Given the description of an element on the screen output the (x, y) to click on. 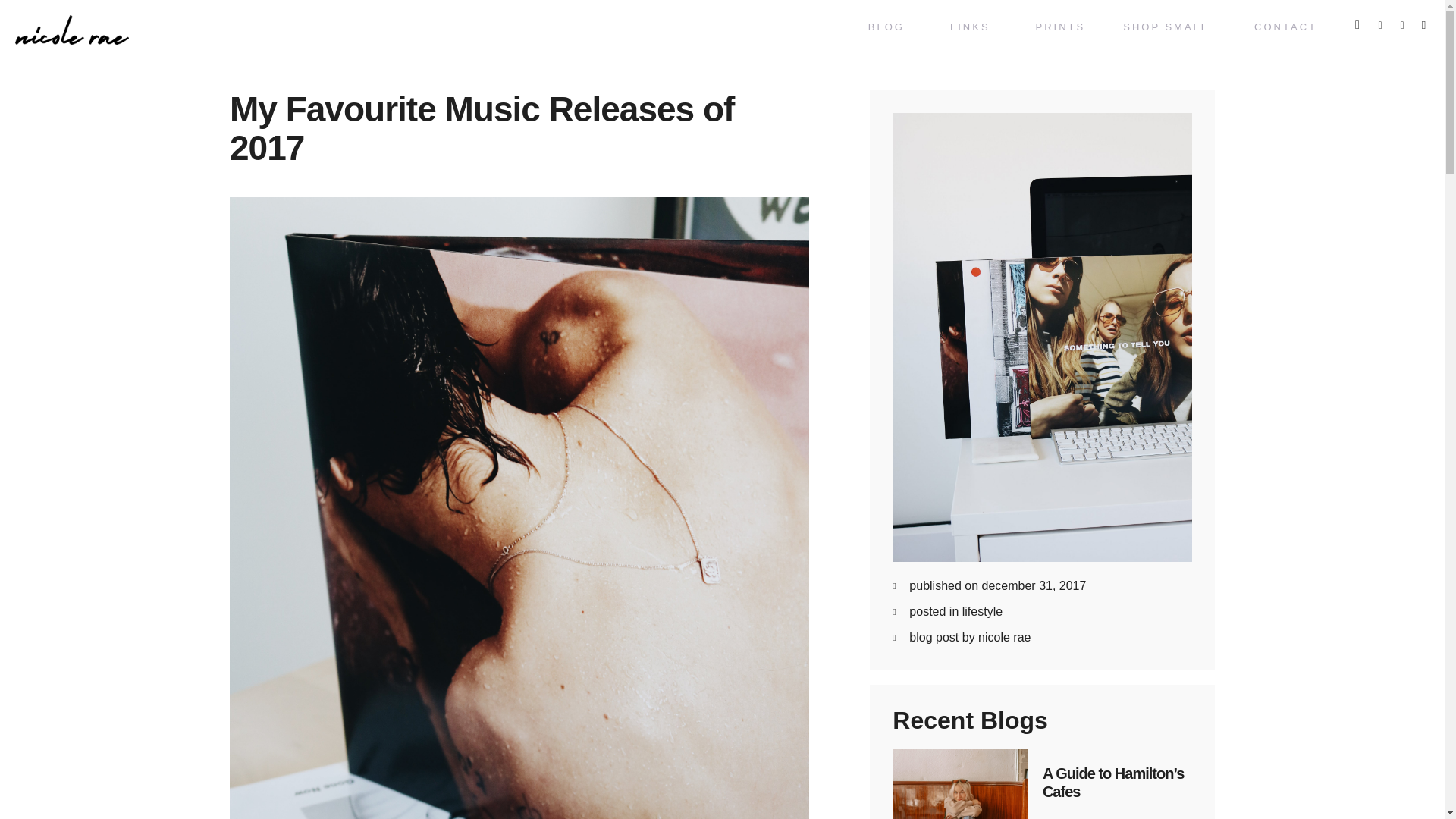
CONTACT (1285, 27)
lifestyle (982, 611)
LINKS (973, 27)
BLOG (889, 27)
SHOP SMALL (1168, 27)
PRINTS (1060, 27)
